Given the description of an element on the screen output the (x, y) to click on. 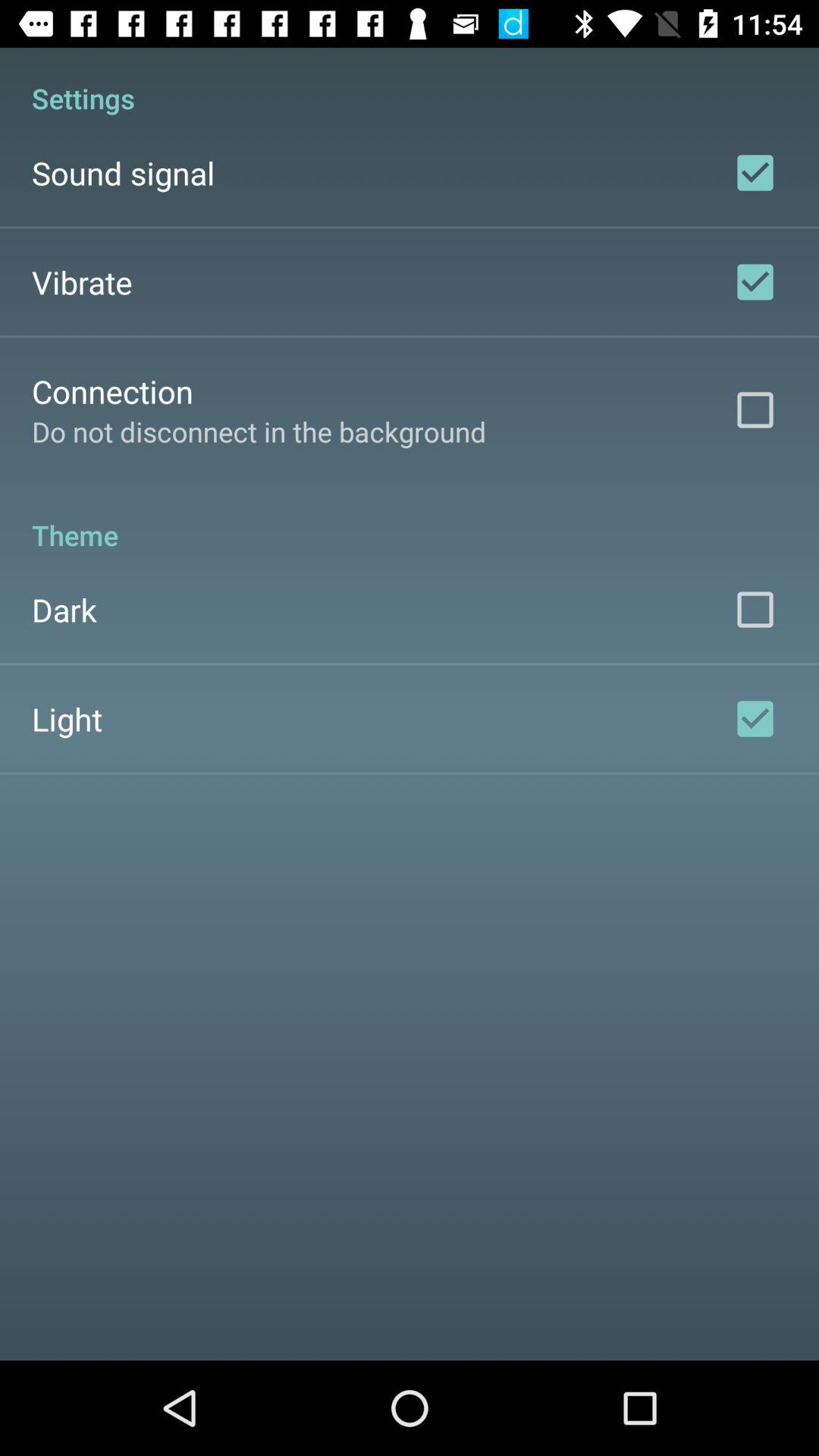
turn on item below vibrate (112, 390)
